Given the description of an element on the screen output the (x, y) to click on. 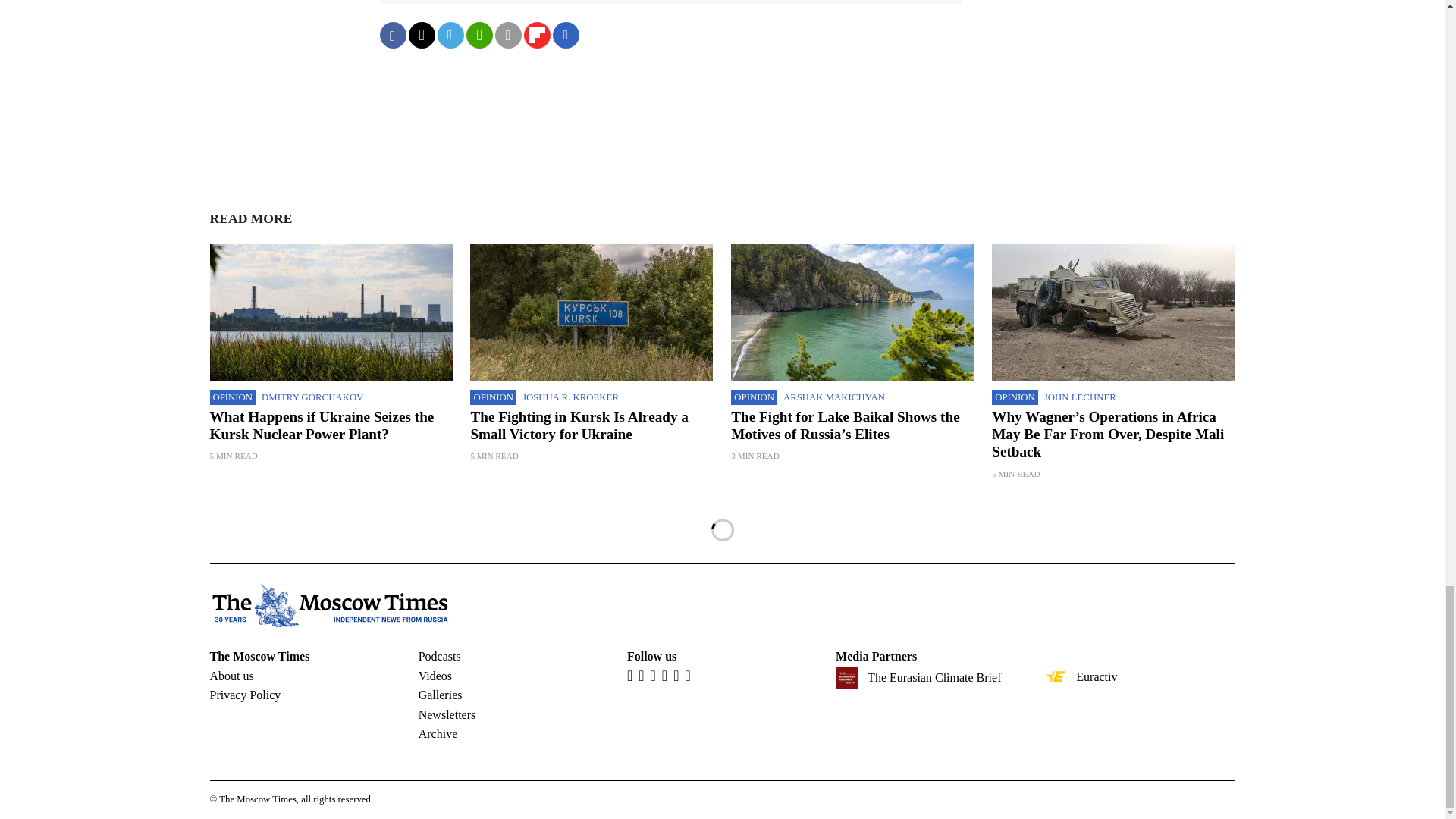
Share on Flipboard (536, 35)
Share on Telegram (449, 35)
Share on Twitter (420, 35)
Share on Facebook (392, 35)
